Given the description of an element on the screen output the (x, y) to click on. 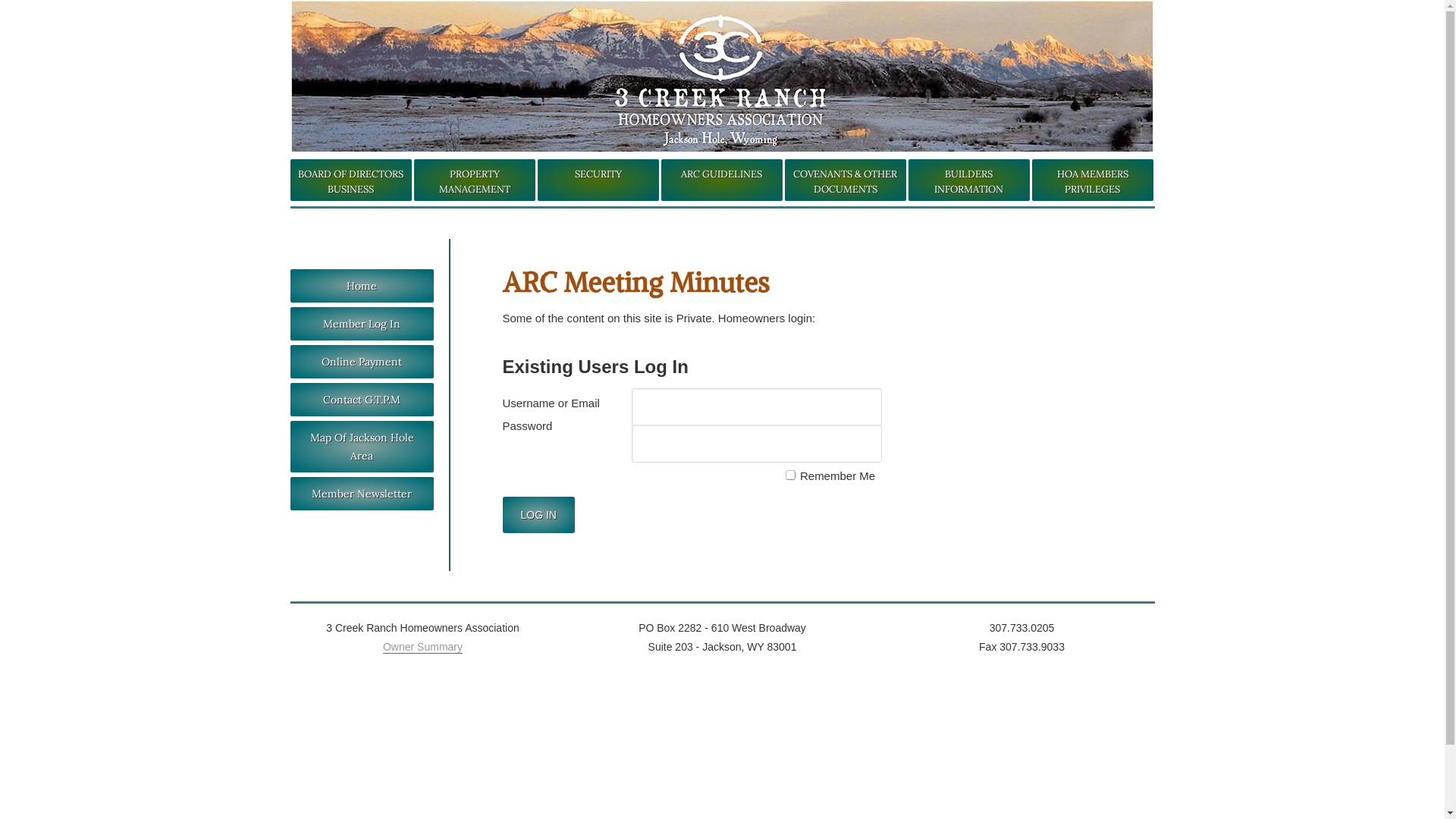
PROPERTY MANAGEMENT Element type: text (474, 179)
Map Of Jackson Hole Area Element type: text (361, 446)
Home Element type: text (361, 284)
Online Payment Element type: text (361, 361)
HOA MEMBERS PRIVILEGES Element type: text (1091, 179)
ARC GUIDELINES Element type: text (721, 179)
BOARD OF DIRECTORS BUSINESS Element type: text (350, 179)
Member Newsletter Element type: text (361, 493)
COVENANTS & OTHER DOCUMENTS Element type: text (844, 179)
Owner Summary Element type: text (422, 646)
Contact G.T.P.M Element type: text (361, 399)
Log In Element type: text (538, 514)
SECURITY Element type: text (597, 179)
BUILDERS INFORMATION Element type: text (968, 179)
Member Log In Element type: text (361, 323)
